Given the description of an element on the screen output the (x, y) to click on. 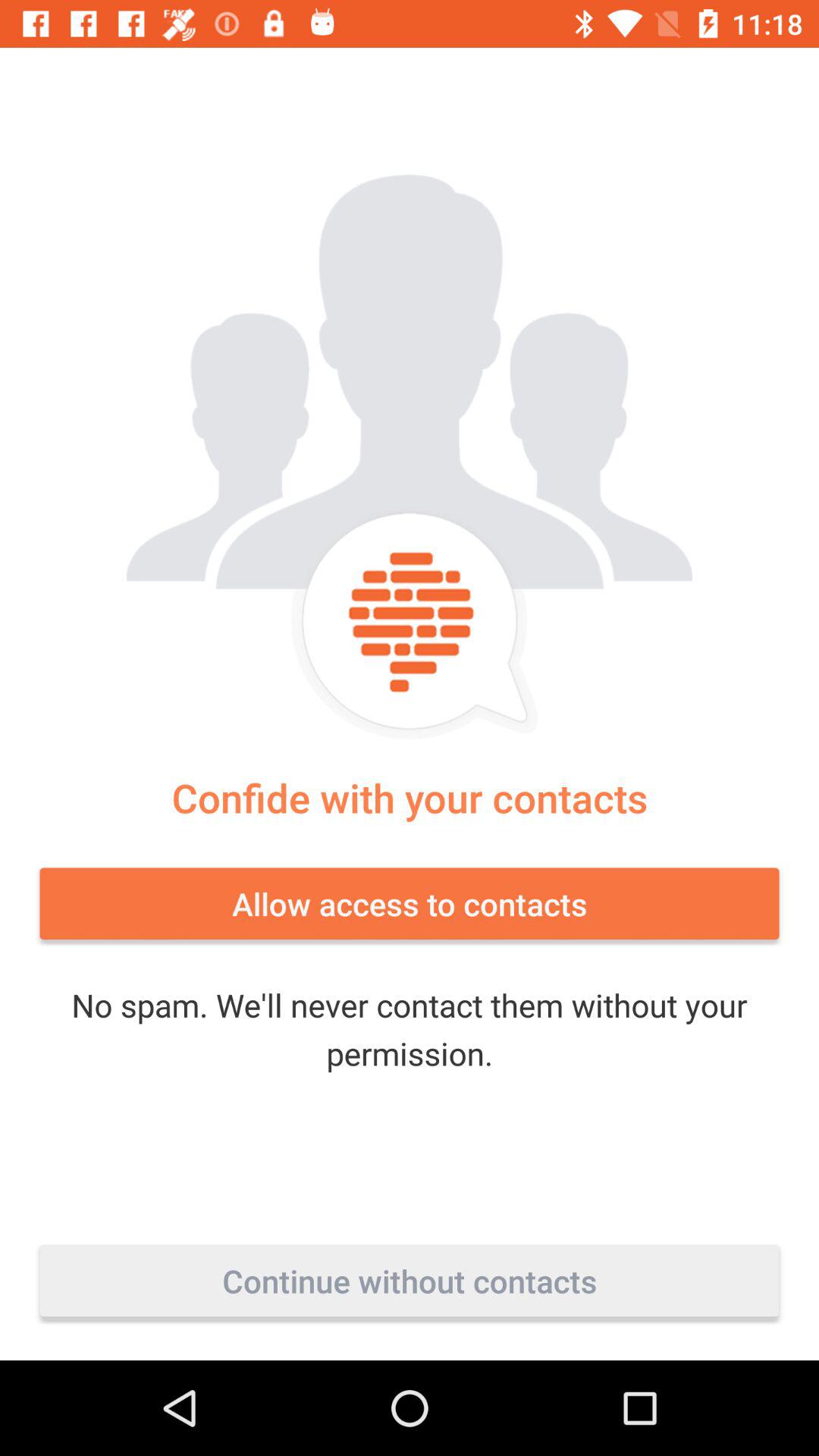
launch continue without contacts item (409, 1280)
